Given the description of an element on the screen output the (x, y) to click on. 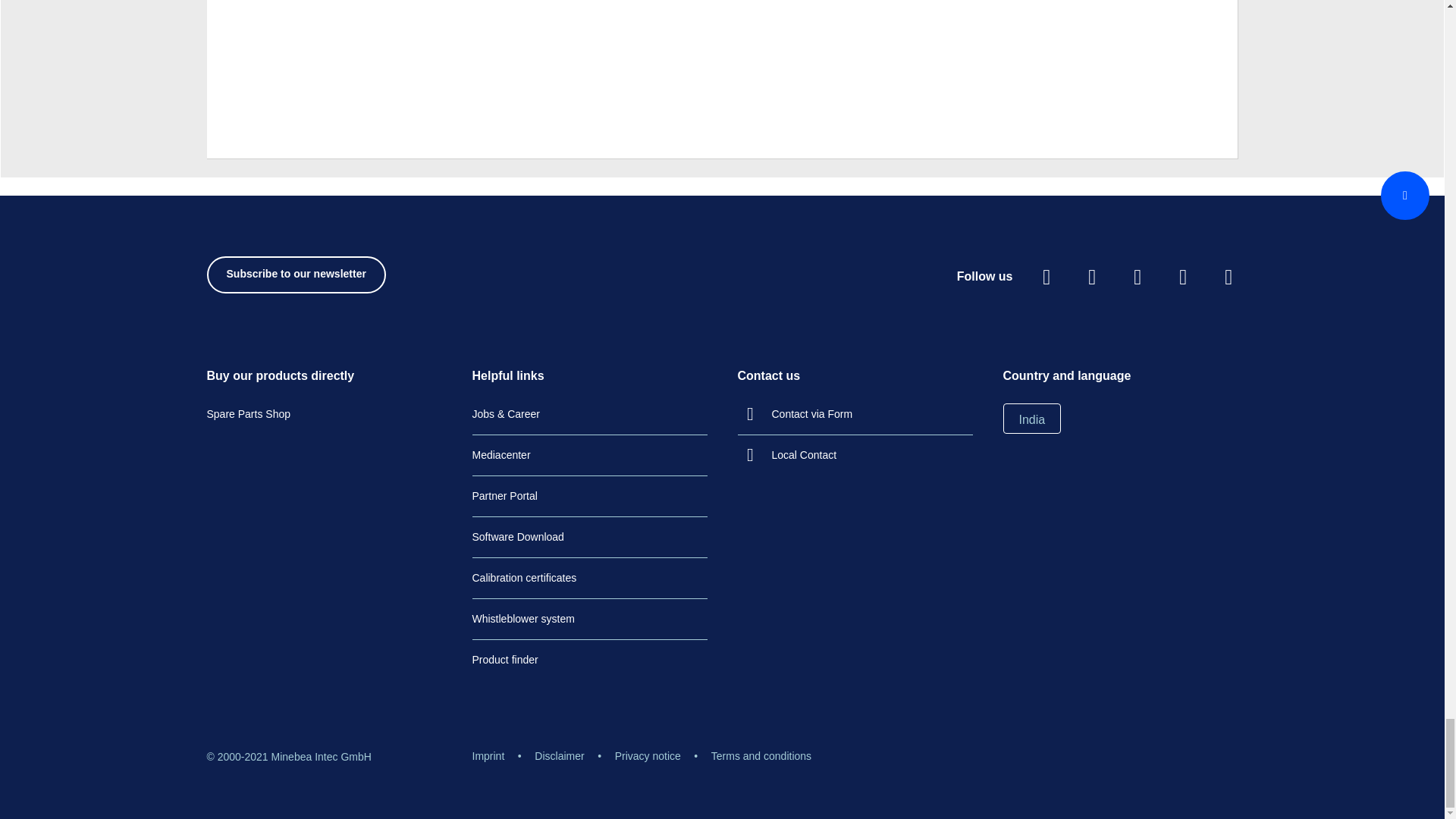
Instagram (1091, 277)
Xing (1227, 277)
YouTube (1137, 277)
Mediacenter (500, 454)
LinkedIn (1182, 277)
Facebook (1045, 277)
Partner Portal (247, 413)
